Given the description of an element on the screen output the (x, y) to click on. 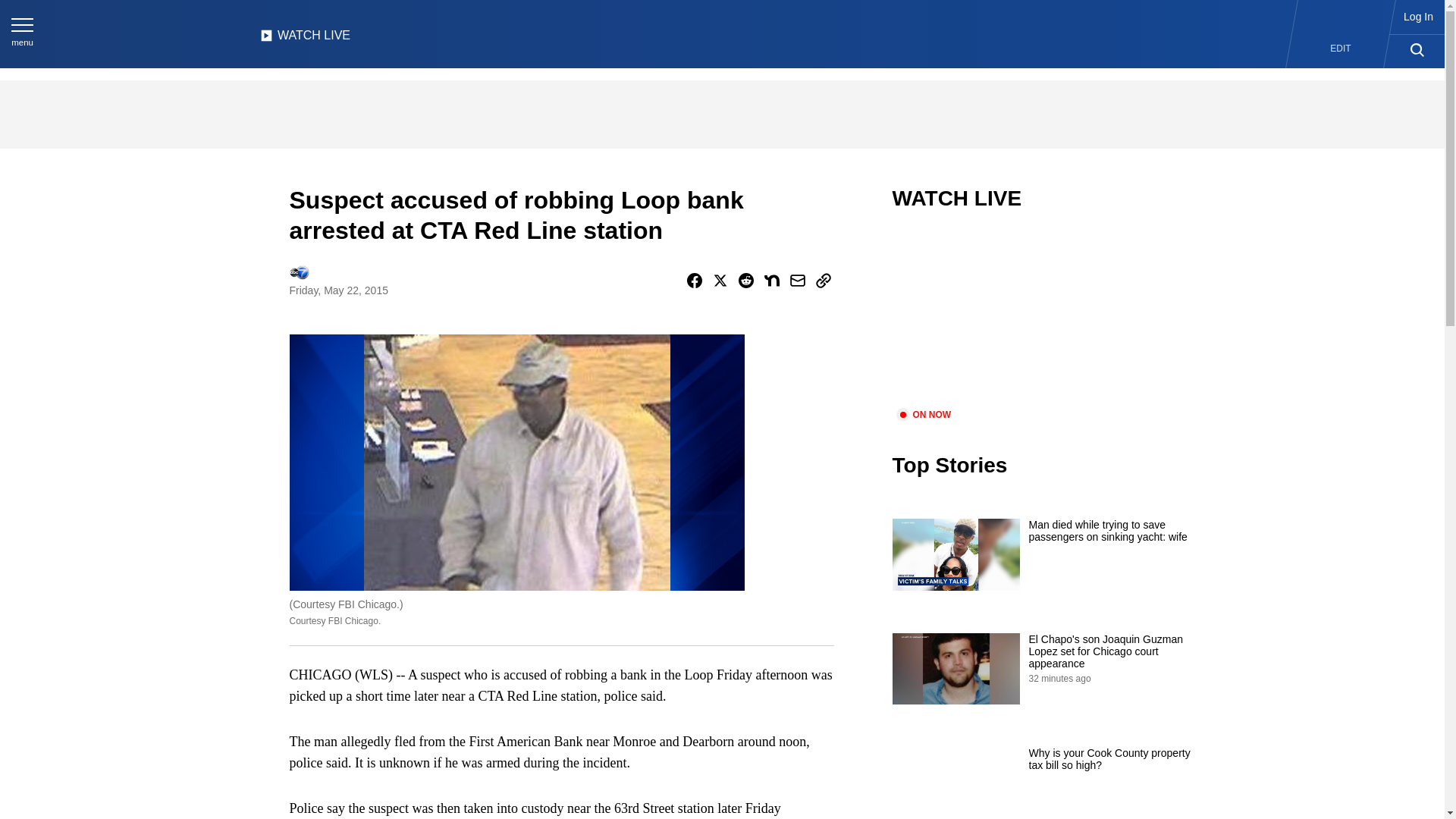
video.title (1043, 318)
WATCH LIVE (305, 39)
EDIT (1340, 48)
